Given the description of an element on the screen output the (x, y) to click on. 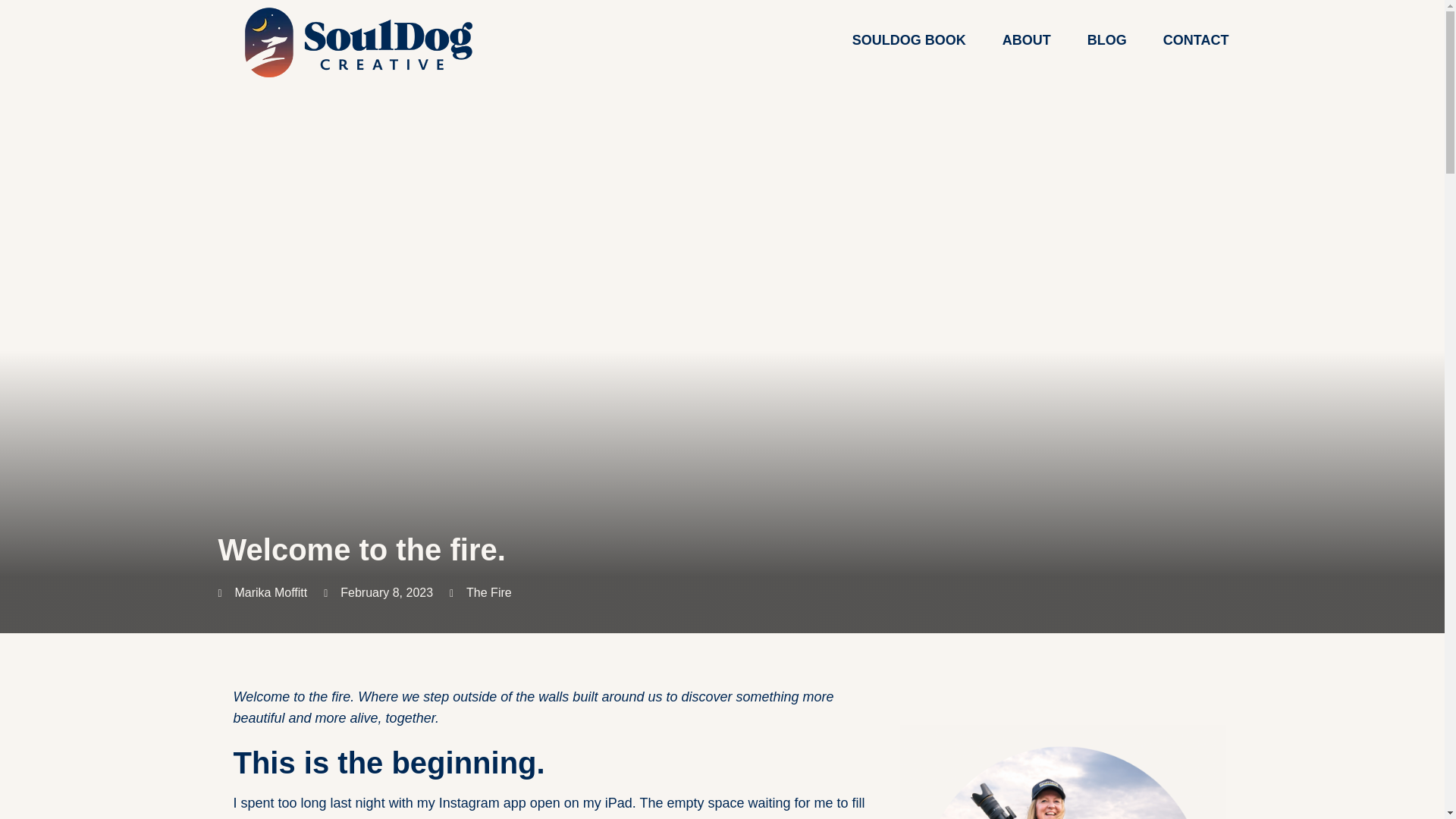
CONTACT (1195, 40)
ABOUT (1027, 40)
Marika Moffitt (262, 592)
BLOG (1106, 40)
SOULDOG BOOK (909, 40)
The Fire (488, 592)
February 8, 2023 (377, 592)
